Given the description of an element on the screen output the (x, y) to click on. 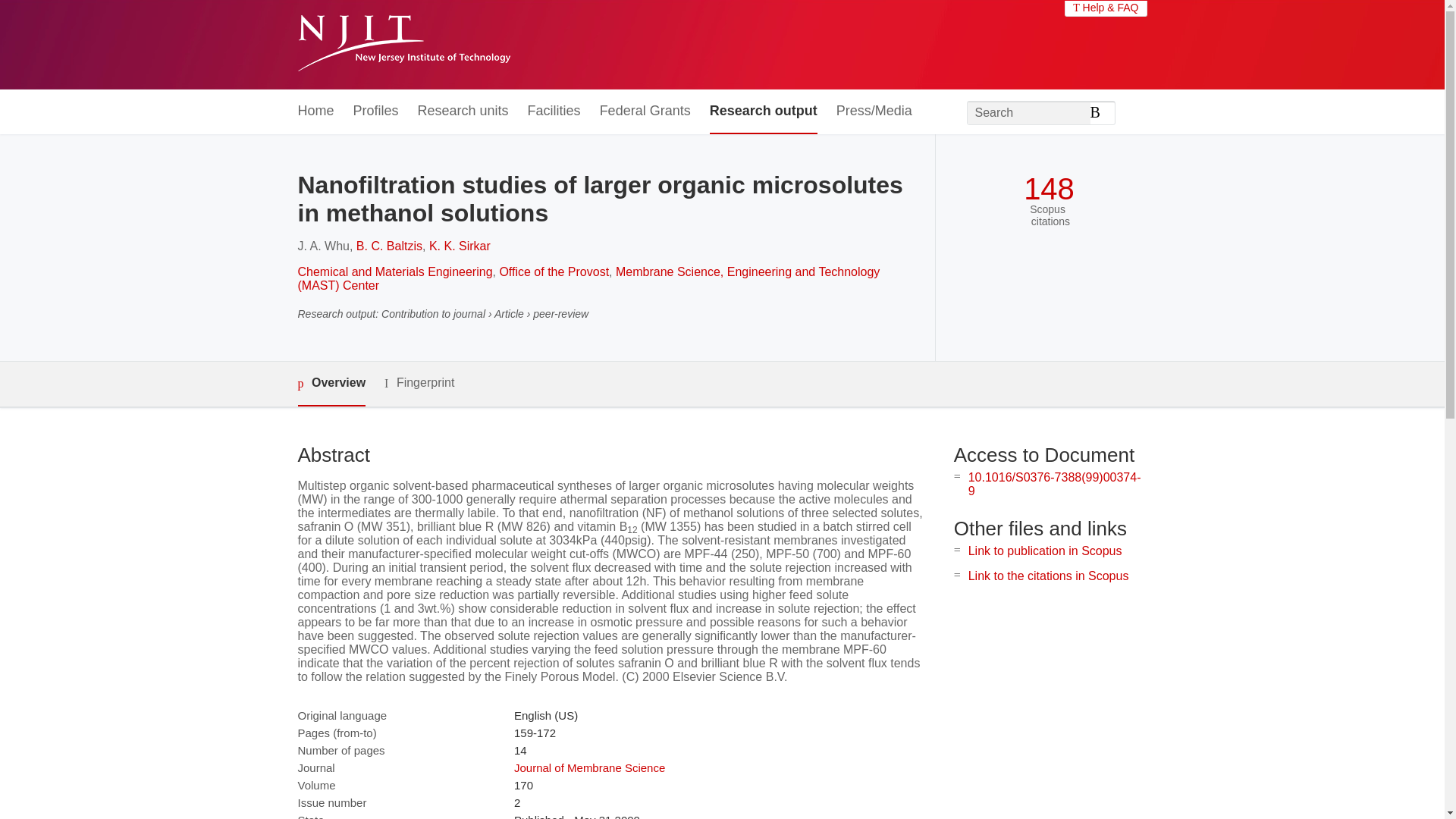
Link to the citations in Scopus (1048, 575)
Home (315, 111)
Overview (331, 383)
Link to publication in Scopus (1045, 550)
148 (1048, 189)
Facilities (553, 111)
Profiles (375, 111)
Research units (462, 111)
Chemical and Materials Engineering (394, 271)
Fingerprint (419, 382)
New Jersey Institute of Technology Home (403, 44)
B. C. Baltzis (389, 245)
Federal Grants (644, 111)
Journal of Membrane Science (589, 767)
